Given the description of an element on the screen output the (x, y) to click on. 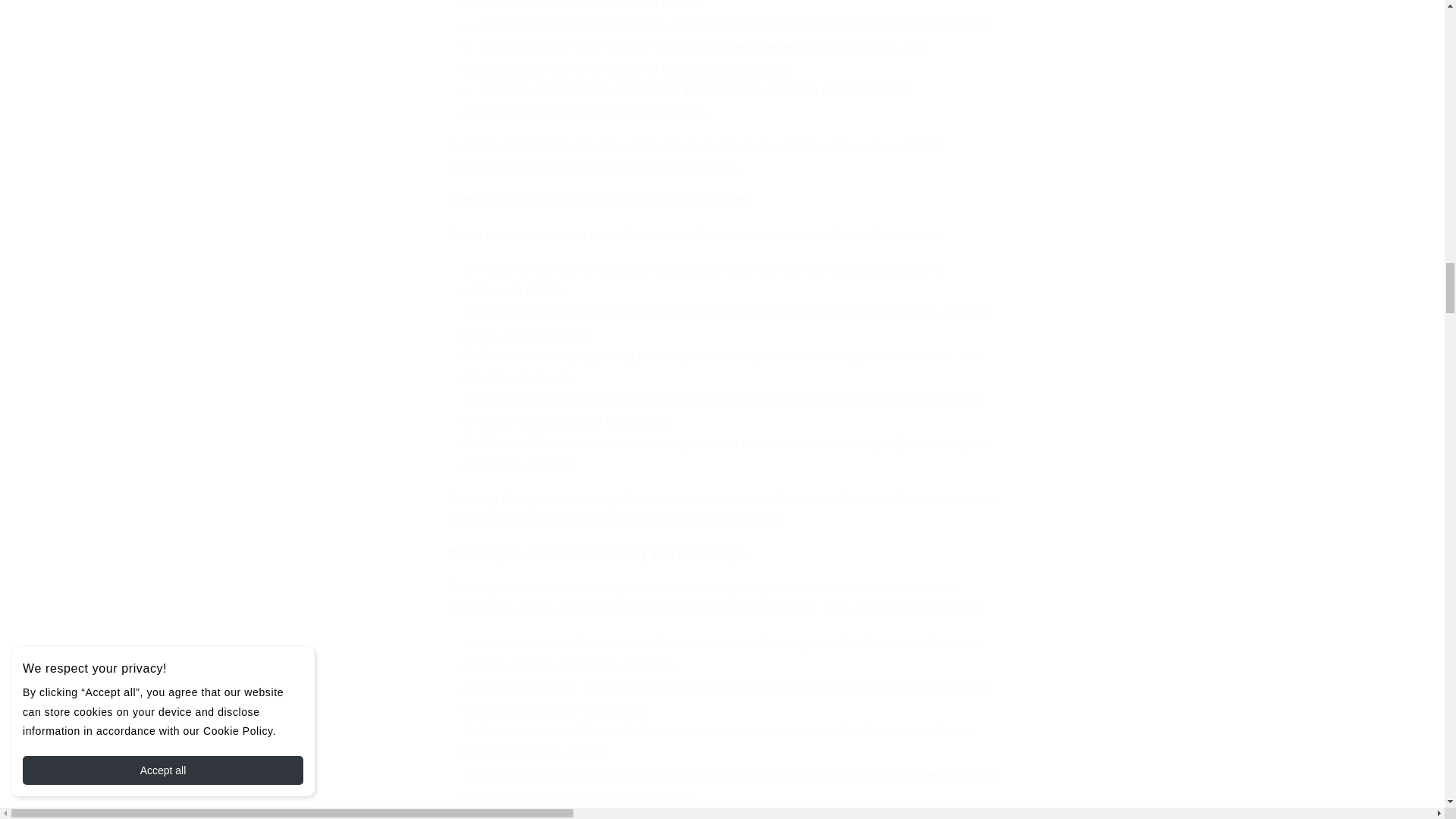
event themes (759, 46)
